Given the description of an element on the screen output the (x, y) to click on. 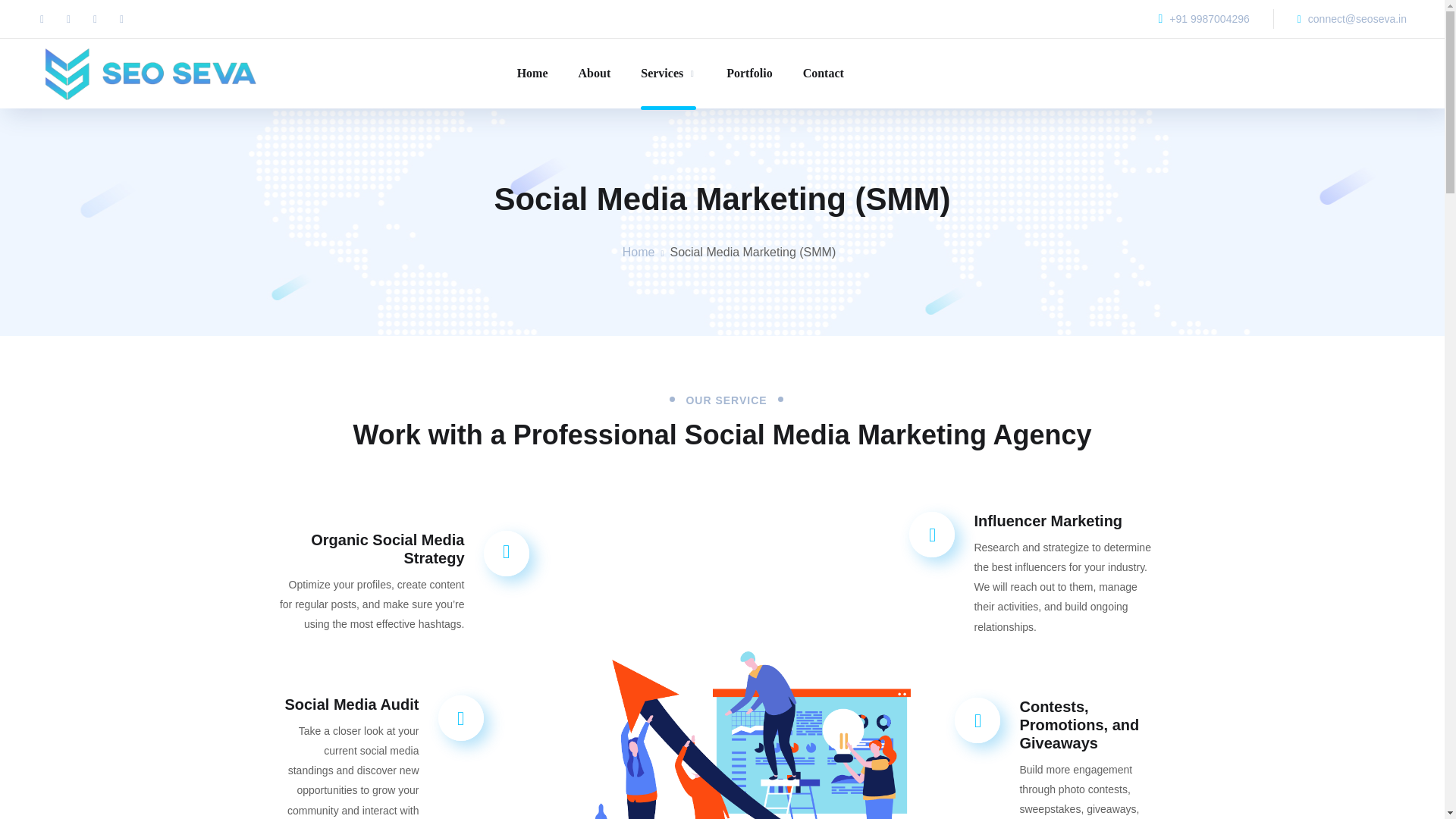
Contact (823, 72)
Portfolio (748, 72)
Home (639, 251)
Services (667, 72)
